Given the description of an element on the screen output the (x, y) to click on. 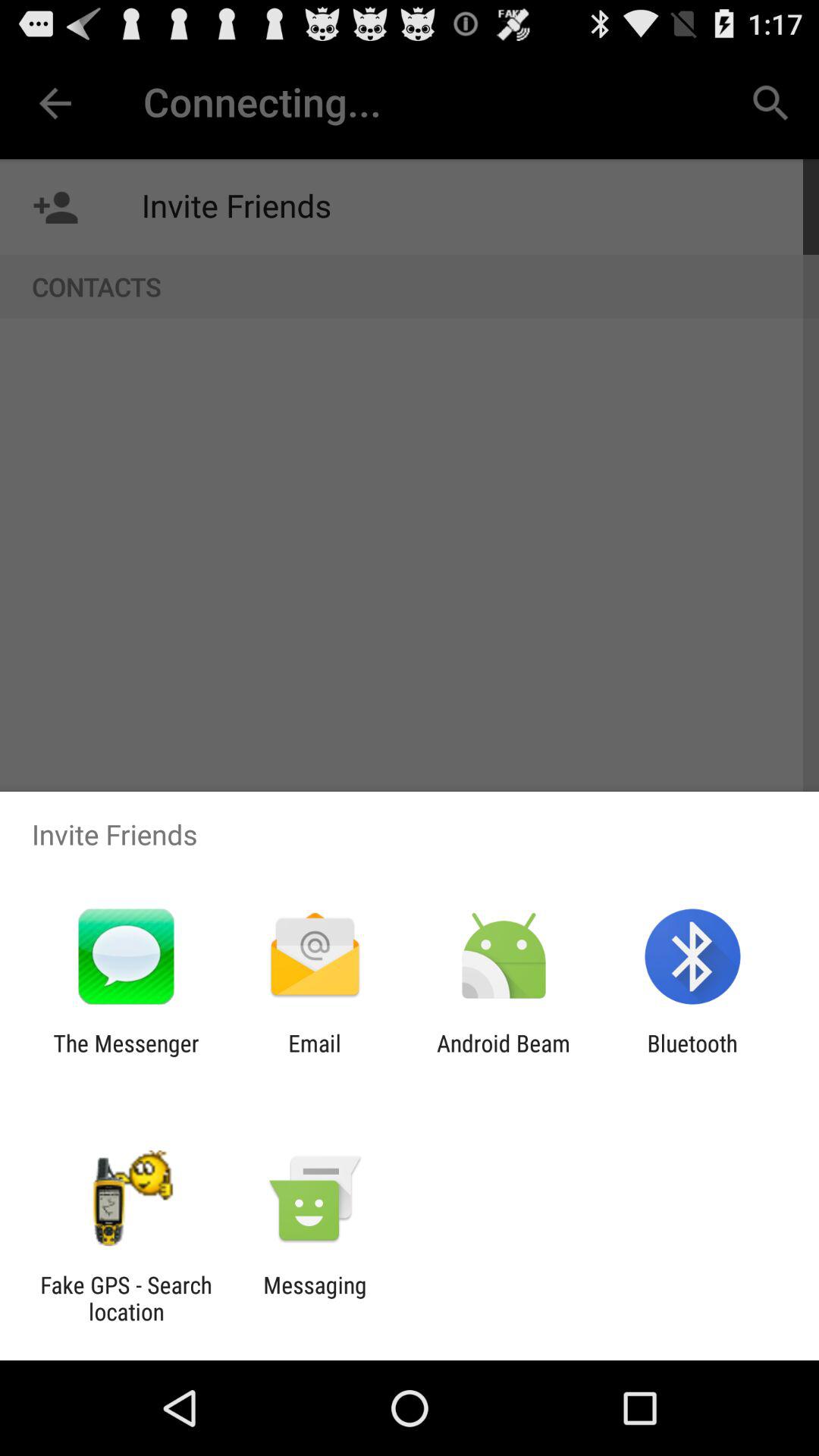
turn on the app next to the android beam (692, 1056)
